Given the description of an element on the screen output the (x, y) to click on. 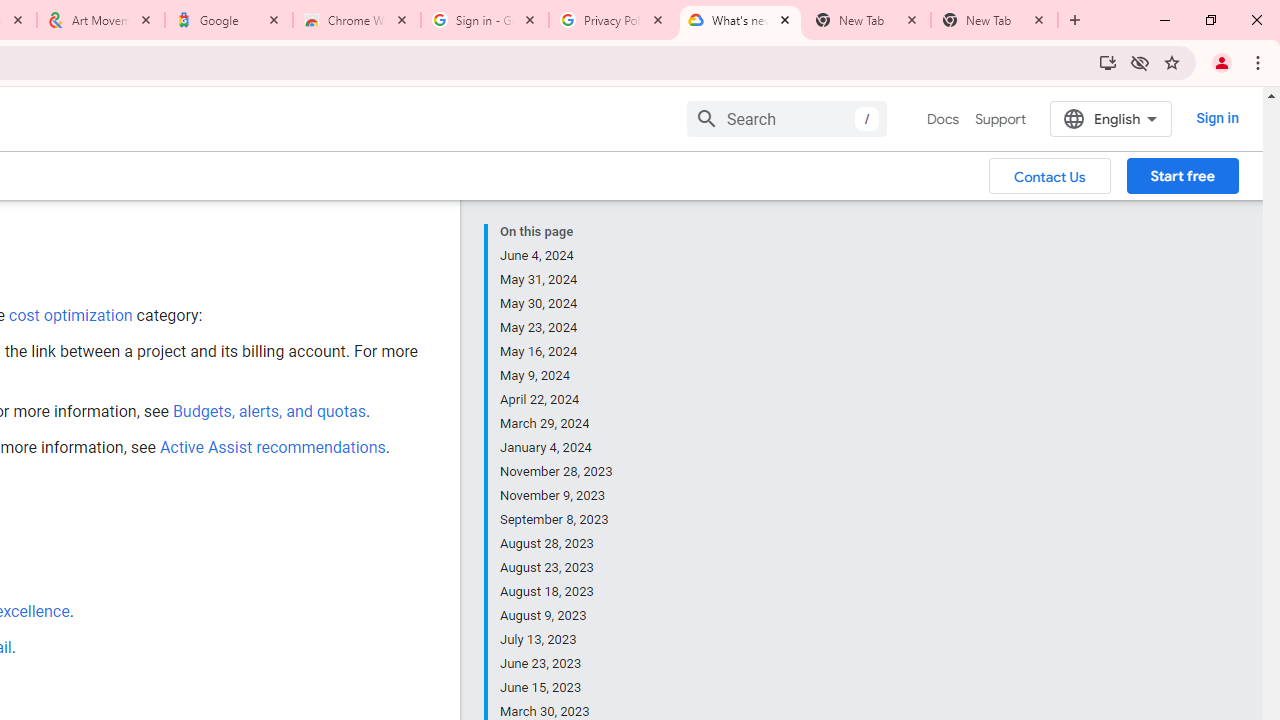
Docs, selected (942, 119)
